Given the description of an element on the screen output the (x, y) to click on. 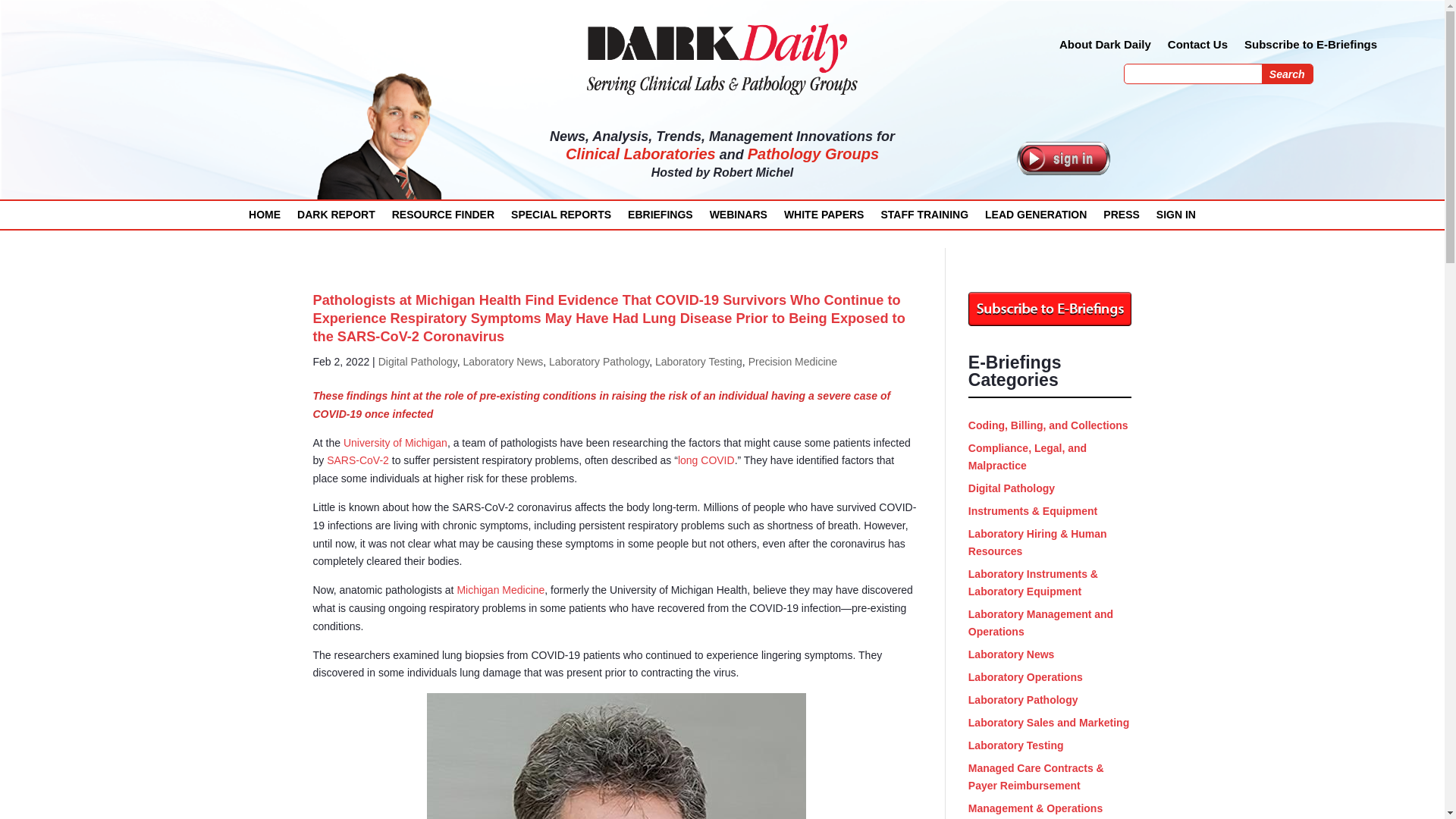
Subscribe to E-Briefings (1310, 47)
Search (1287, 73)
HOME (264, 217)
Contact Us (1197, 47)
RESOURCE FINDER (443, 217)
DARK REPORT (336, 217)
Search (1287, 73)
About Dark Daily (1105, 47)
Search (1287, 73)
sign-in-for-dark-daily (1063, 158)
robert-michael-dark-daily (380, 137)
dark-daily-serving-clinical-labs (722, 58)
